Given the description of an element on the screen output the (x, y) to click on. 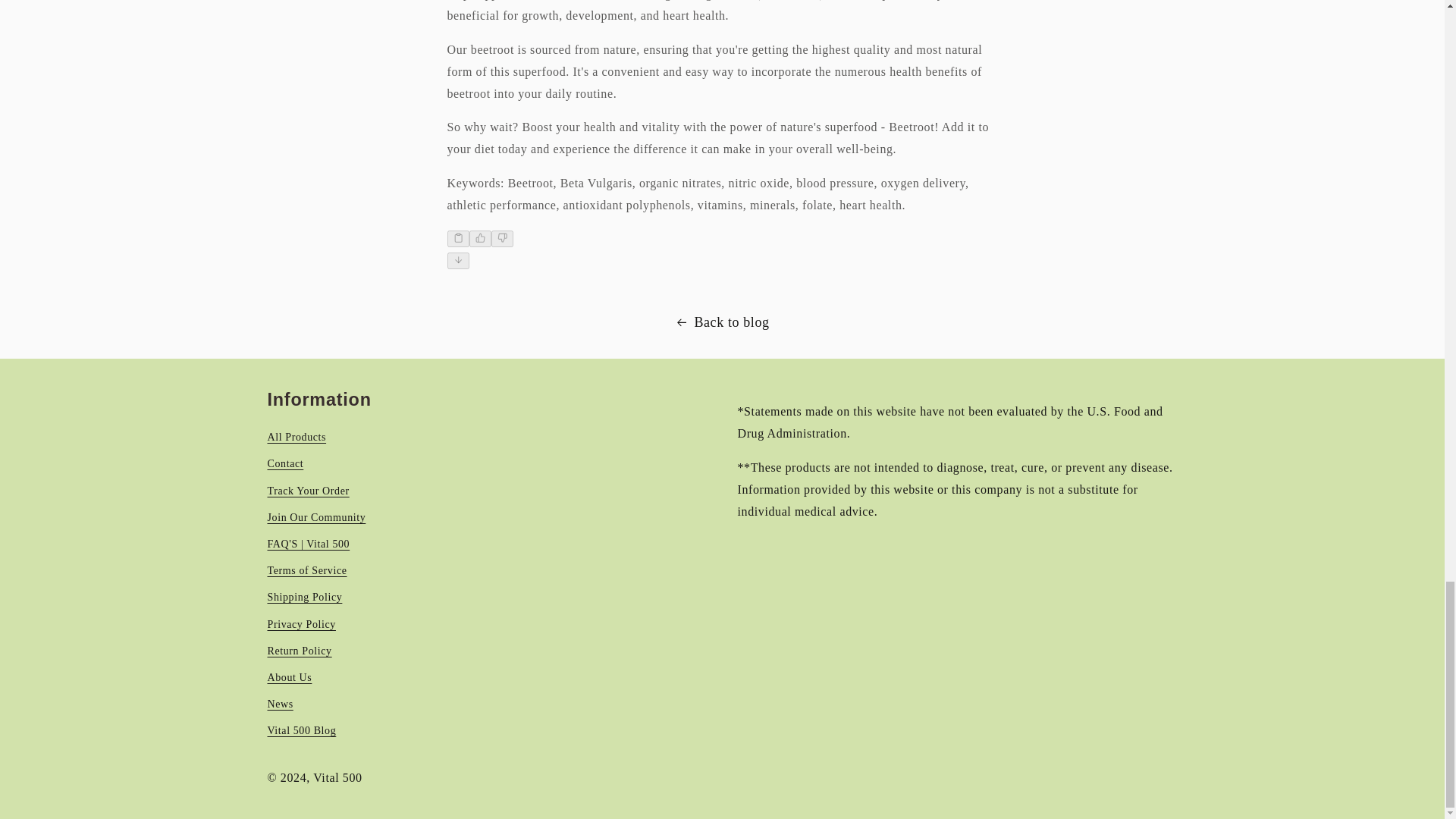
All Products (296, 438)
Contact (284, 463)
